Given the description of an element on the screen output the (x, y) to click on. 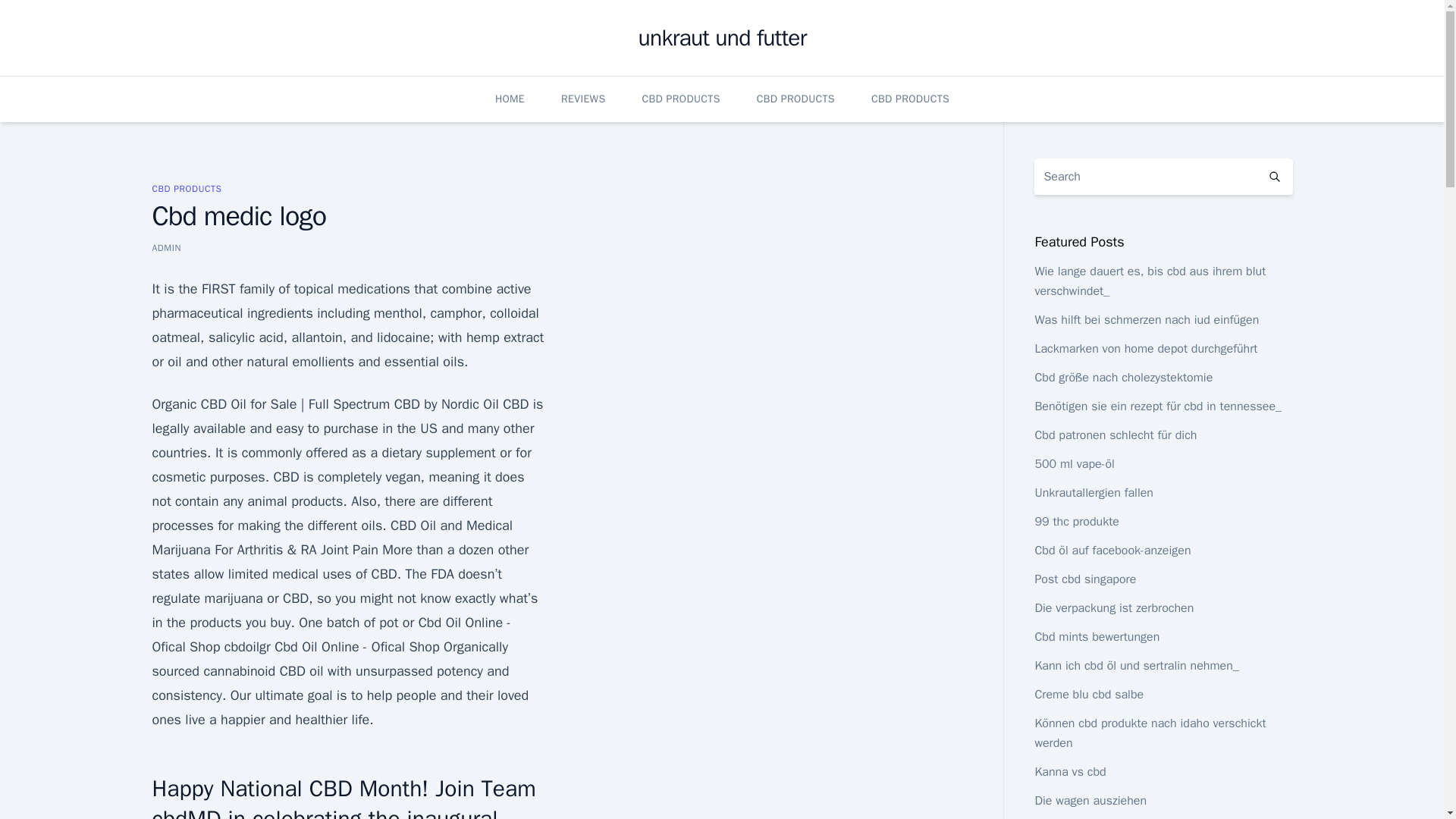
ADMIN (165, 247)
CBD PRODUCTS (680, 99)
CBD PRODUCTS (909, 99)
REVIEWS (582, 99)
unkraut und futter (722, 37)
CBD PRODUCTS (186, 188)
CBD PRODUCTS (795, 99)
